Given the description of an element on the screen output the (x, y) to click on. 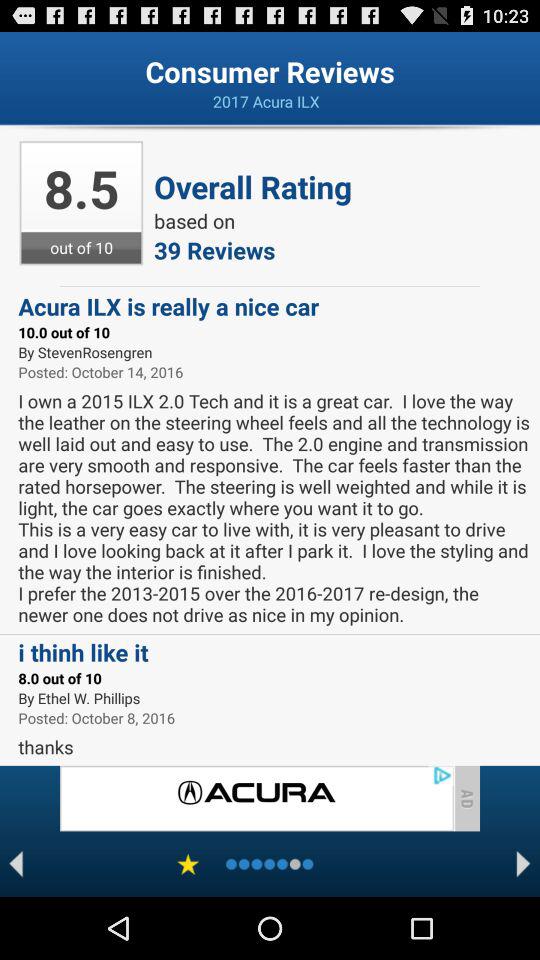
click advertisement (256, 798)
